Given the description of an element on the screen output the (x, y) to click on. 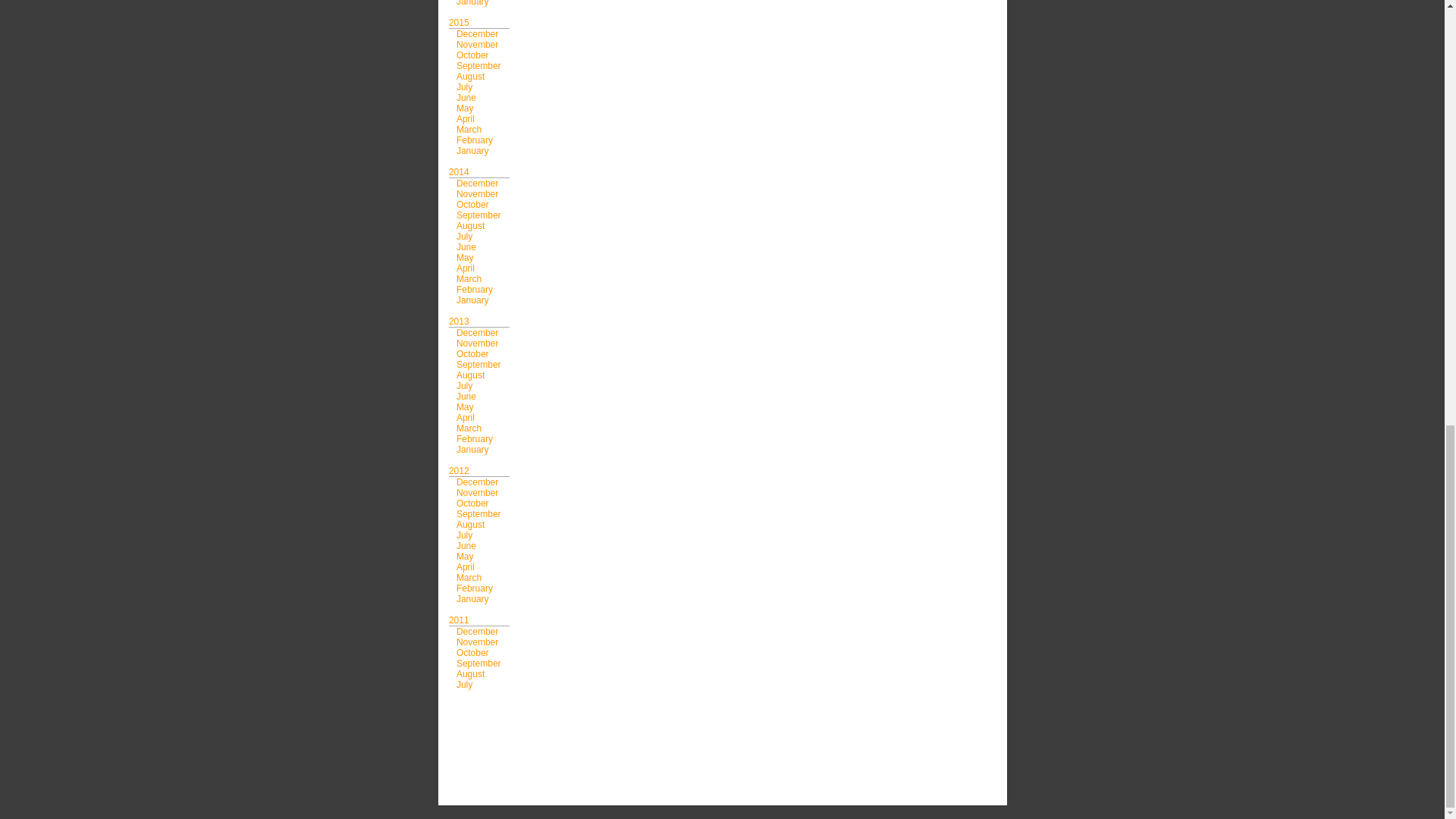
December (477, 33)
2015 (458, 22)
June (466, 97)
September (478, 65)
August (470, 76)
October (473, 54)
July (464, 86)
January (473, 3)
May (465, 108)
November (477, 44)
April (465, 118)
March (469, 129)
